Given the description of an element on the screen output the (x, y) to click on. 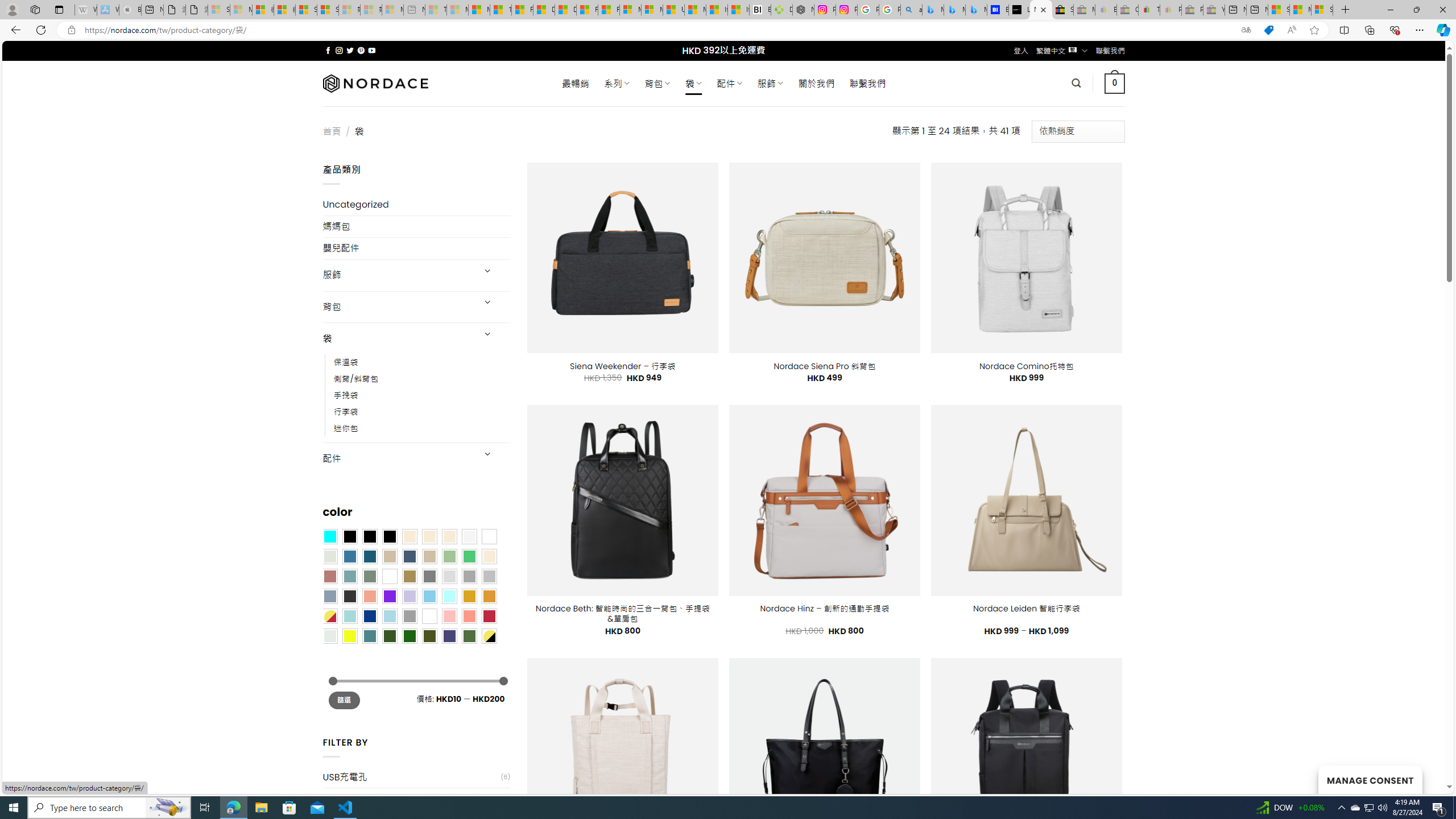
Sign in to your Microsoft account - Sleeping (218, 9)
  0   (1115, 83)
Follow on Instagram (338, 50)
alabama high school quarterback dies - Search (911, 9)
